Given the description of an element on the screen output the (x, y) to click on. 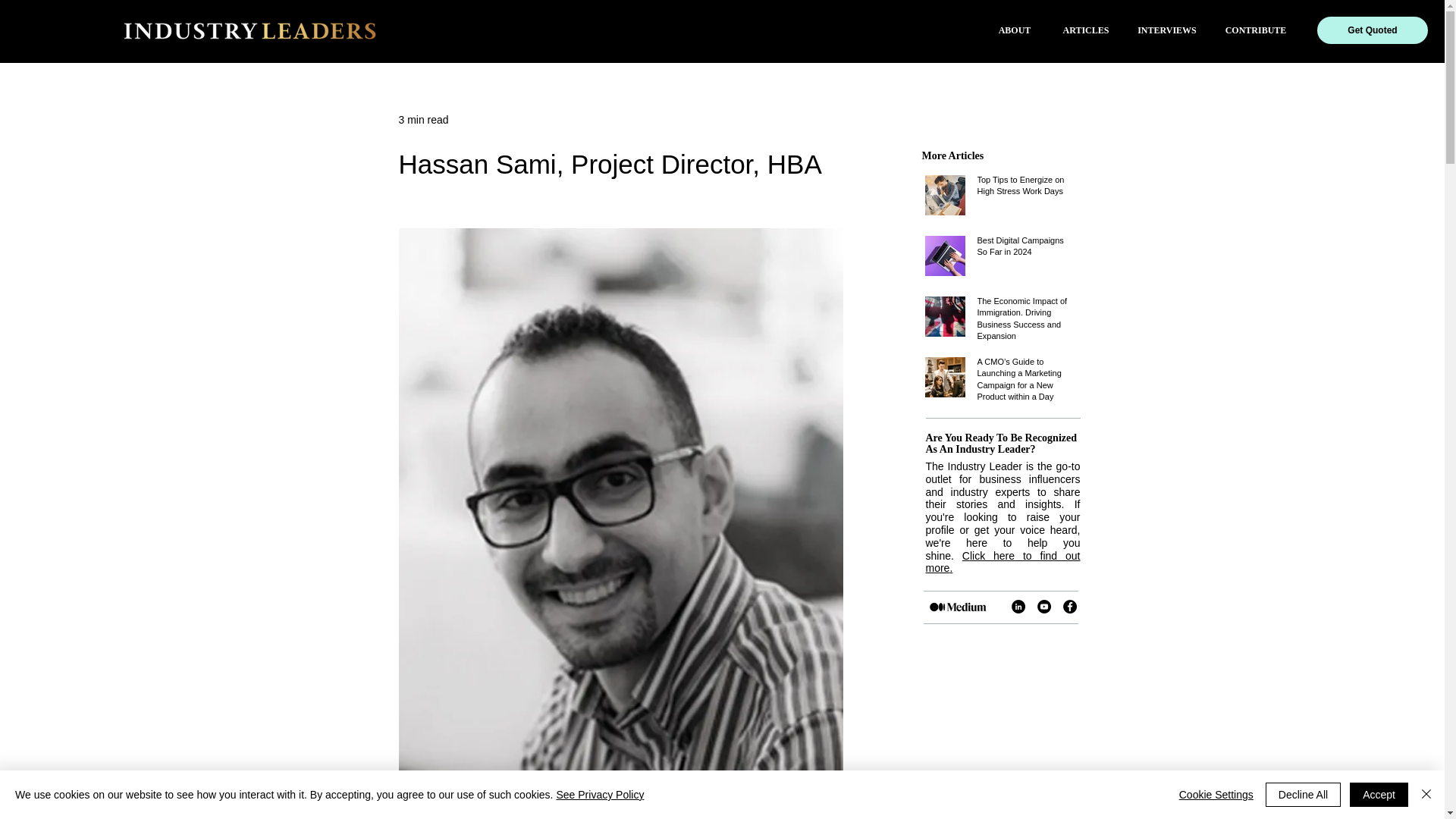
CONTRIBUTE (1255, 30)
More Articles (952, 155)
3 min read (423, 119)
Best Digital Campaigns So Far in 2024 (1025, 249)
Get Quoted (1372, 30)
ARTICLES (1086, 30)
Top Tips to Energize on High Stress Work Days (1025, 188)
Are You Ready To Be Recognized As An Industry Leader? (1000, 443)
